Given the description of an element on the screen output the (x, y) to click on. 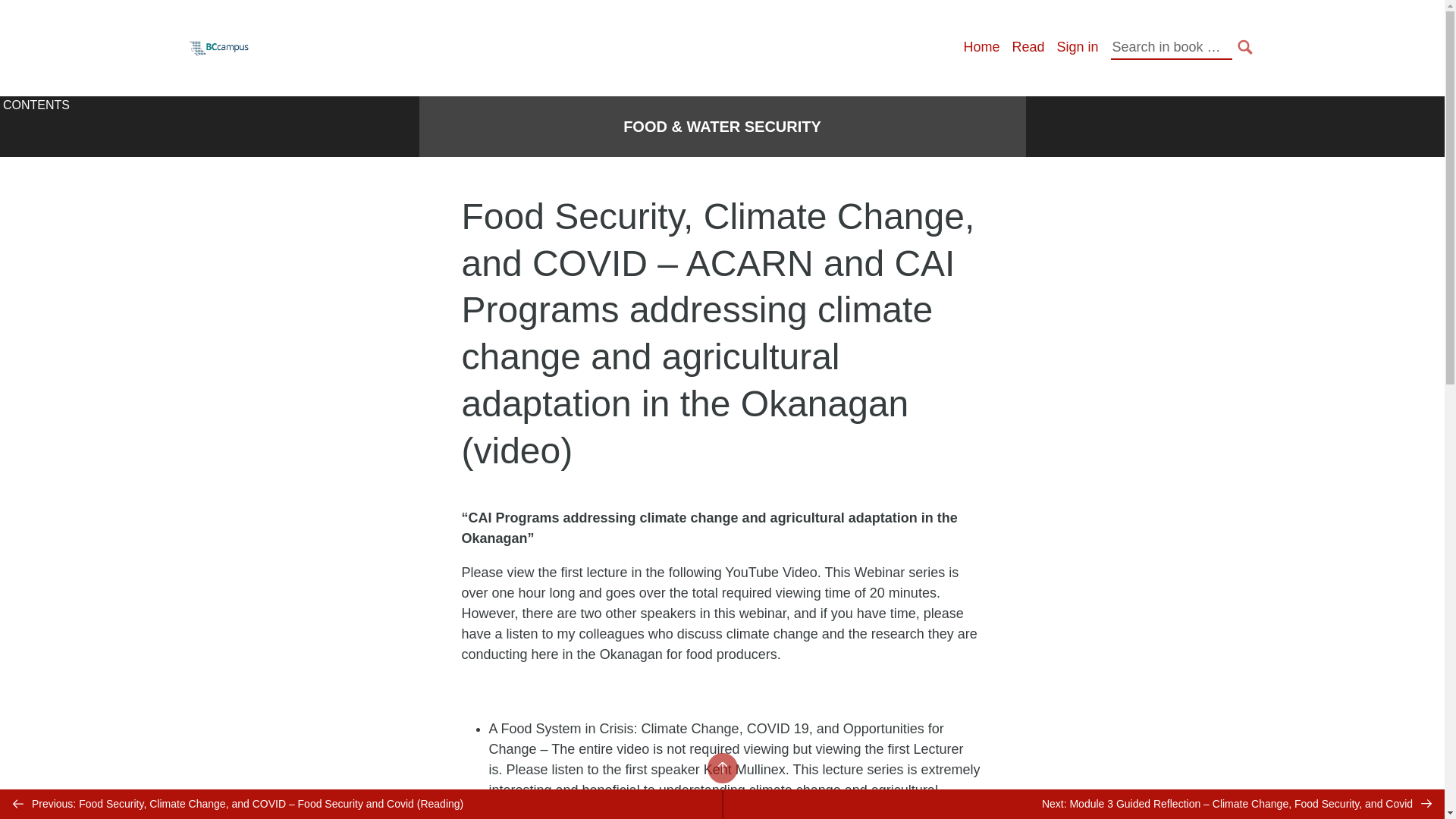
BACK TO TOP (721, 767)
Sign in (1077, 46)
Home (980, 46)
Read (1027, 46)
